Given the description of an element on the screen output the (x, y) to click on. 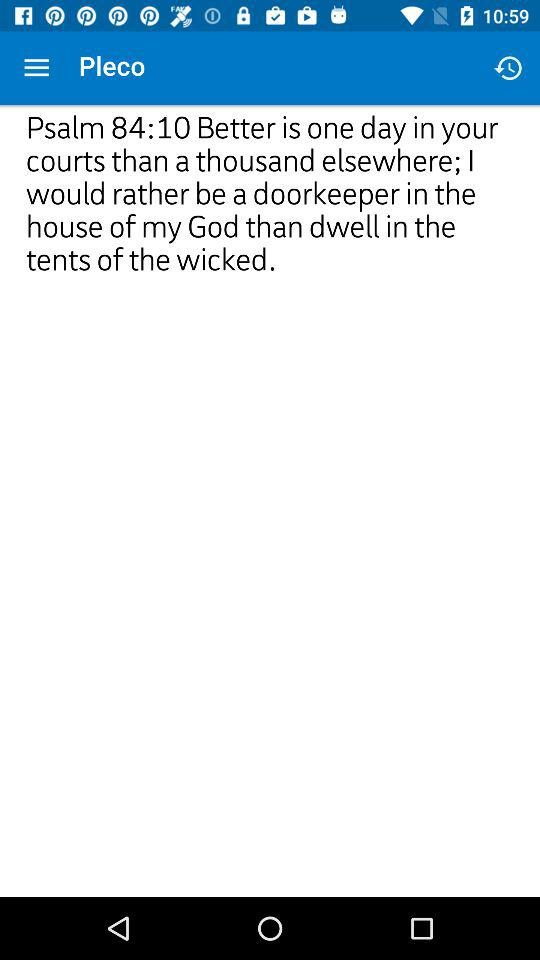
choose the item above the psalm 84 10 (508, 67)
